Given the description of an element on the screen output the (x, y) to click on. 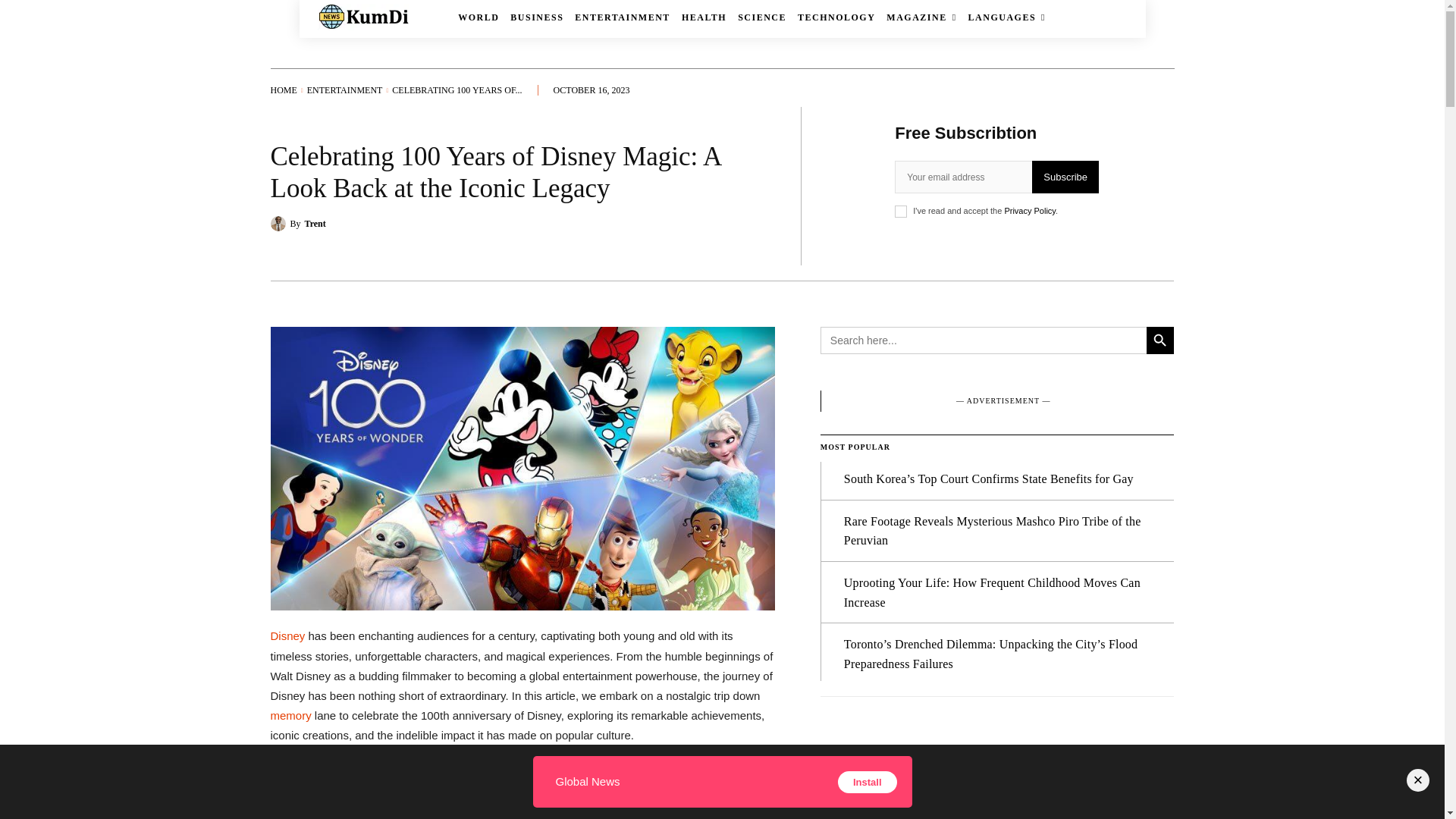
Trent (279, 223)
WORLD (478, 17)
HEALTH (703, 17)
SCIENCE (762, 17)
MAGAZINE (921, 17)
BUSINESS (537, 17)
TECHNOLOGY (836, 17)
View all posts in Entertainment (344, 90)
ENTERTAINMENT (622, 17)
